Given the description of an element on the screen output the (x, y) to click on. 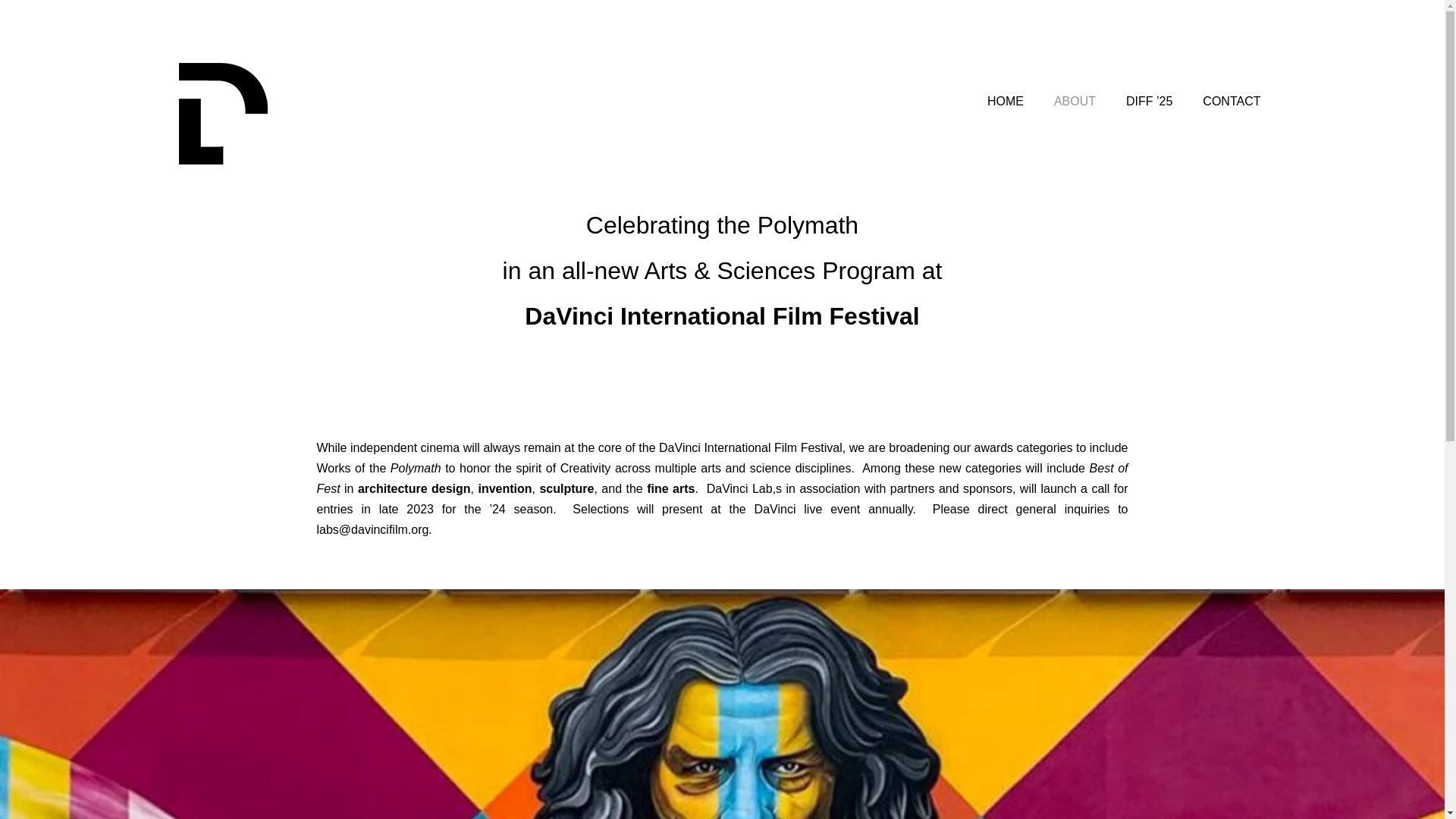
HOME (1005, 100)
ABOUT (1074, 100)
CONTACT (1231, 100)
